Given the description of an element on the screen output the (x, y) to click on. 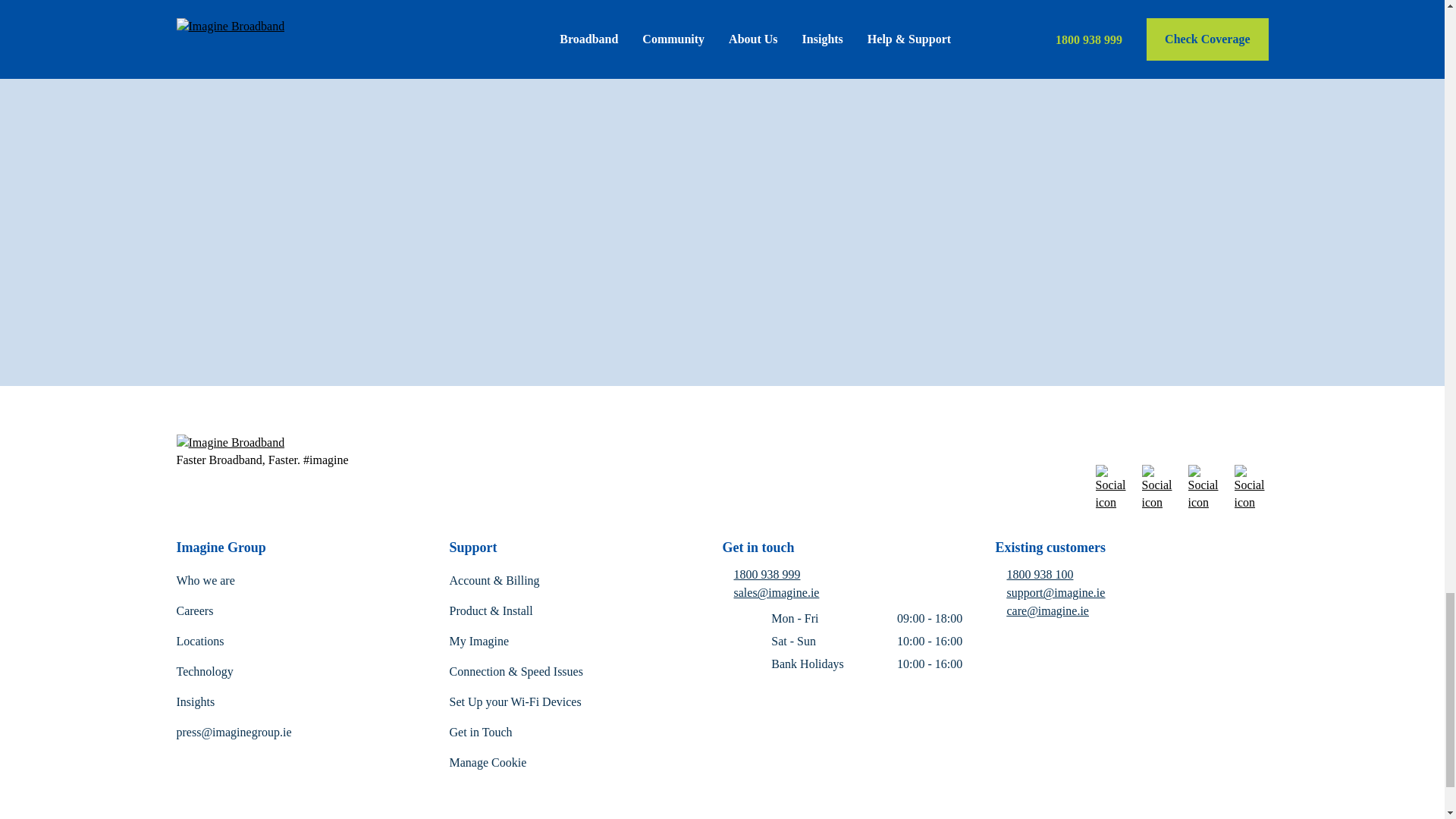
Careers (194, 610)
Technology (204, 671)
Who we are (205, 580)
Locations (200, 640)
Insights (195, 701)
